Given the description of an element on the screen output the (x, y) to click on. 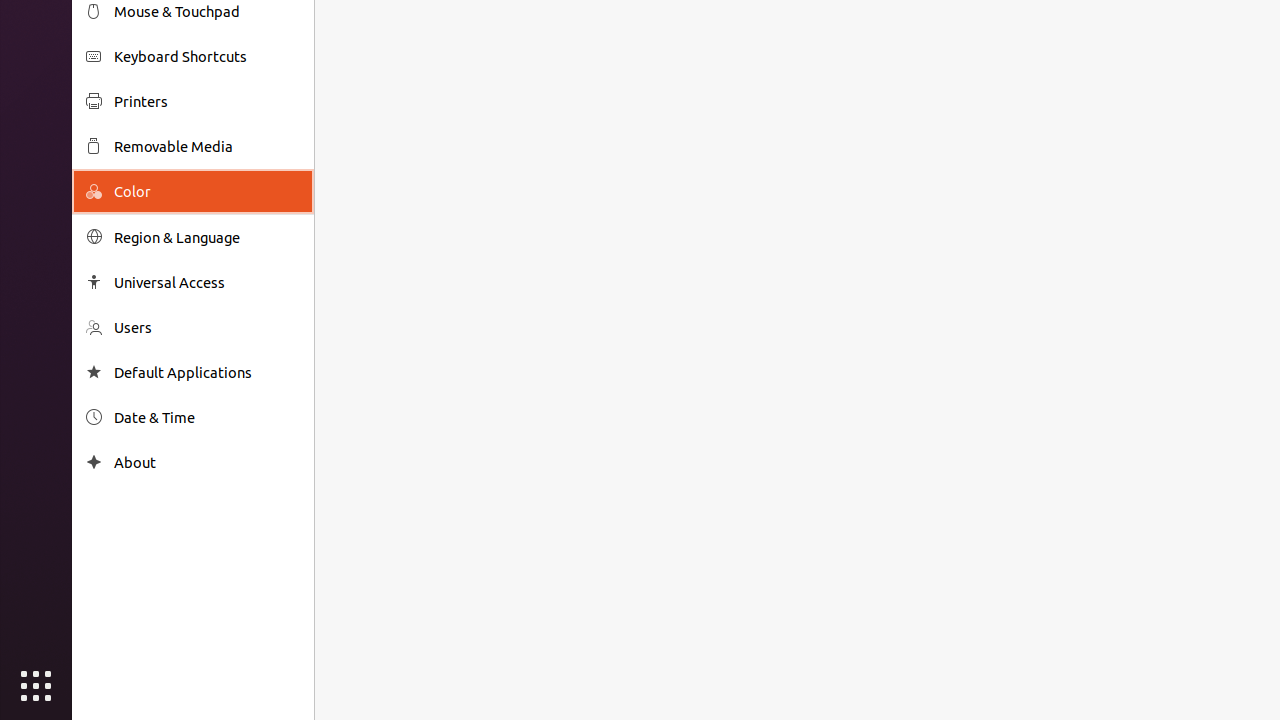
Removable Media Element type: label (207, 146)
Default Applications Element type: label (207, 372)
Region & Language Element type: label (207, 237)
About Element type: icon (94, 462)
